Given the description of an element on the screen output the (x, y) to click on. 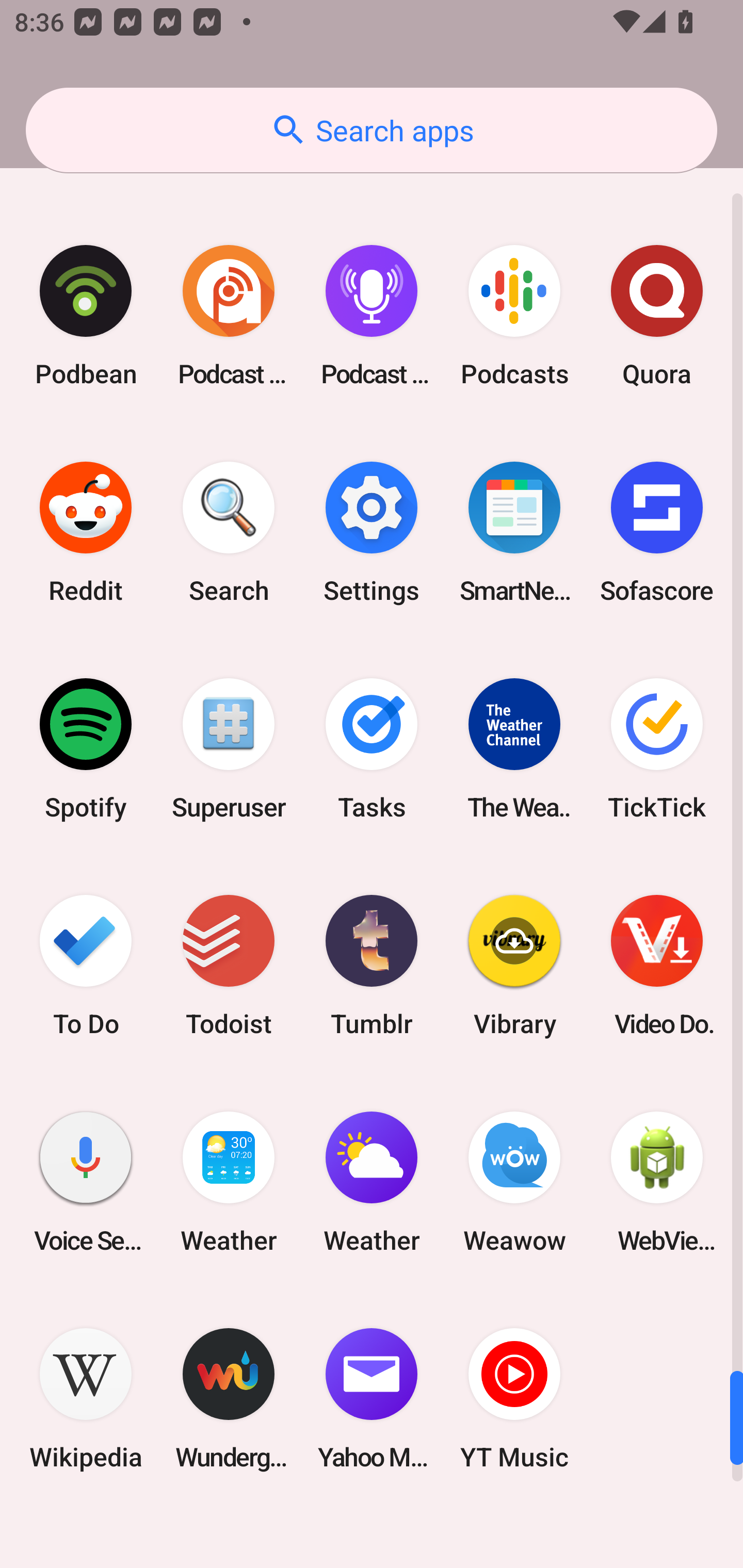
  Search apps (371, 130)
Podbean (85, 314)
Podcast Addict (228, 314)
Podcast Player (371, 314)
Podcasts (514, 314)
Quora (656, 314)
Reddit (85, 532)
Search (228, 532)
Settings (371, 532)
SmartNews (514, 532)
Sofascore (656, 532)
Spotify (85, 749)
Superuser (228, 749)
Tasks (371, 749)
The Weather Channel (514, 749)
TickTick (656, 749)
To Do (85, 965)
Todoist (228, 965)
Tumblr (371, 965)
Vibrary (514, 965)
Video Downloader & Ace Player (656, 965)
Voice Search (85, 1182)
Weather (228, 1182)
Weather (371, 1182)
Weawow (514, 1182)
WebView Browser Tester (656, 1182)
Wikipedia (85, 1398)
Wunderground (228, 1398)
Yahoo Mail (371, 1398)
YT Music (514, 1398)
